Given the description of an element on the screen output the (x, y) to click on. 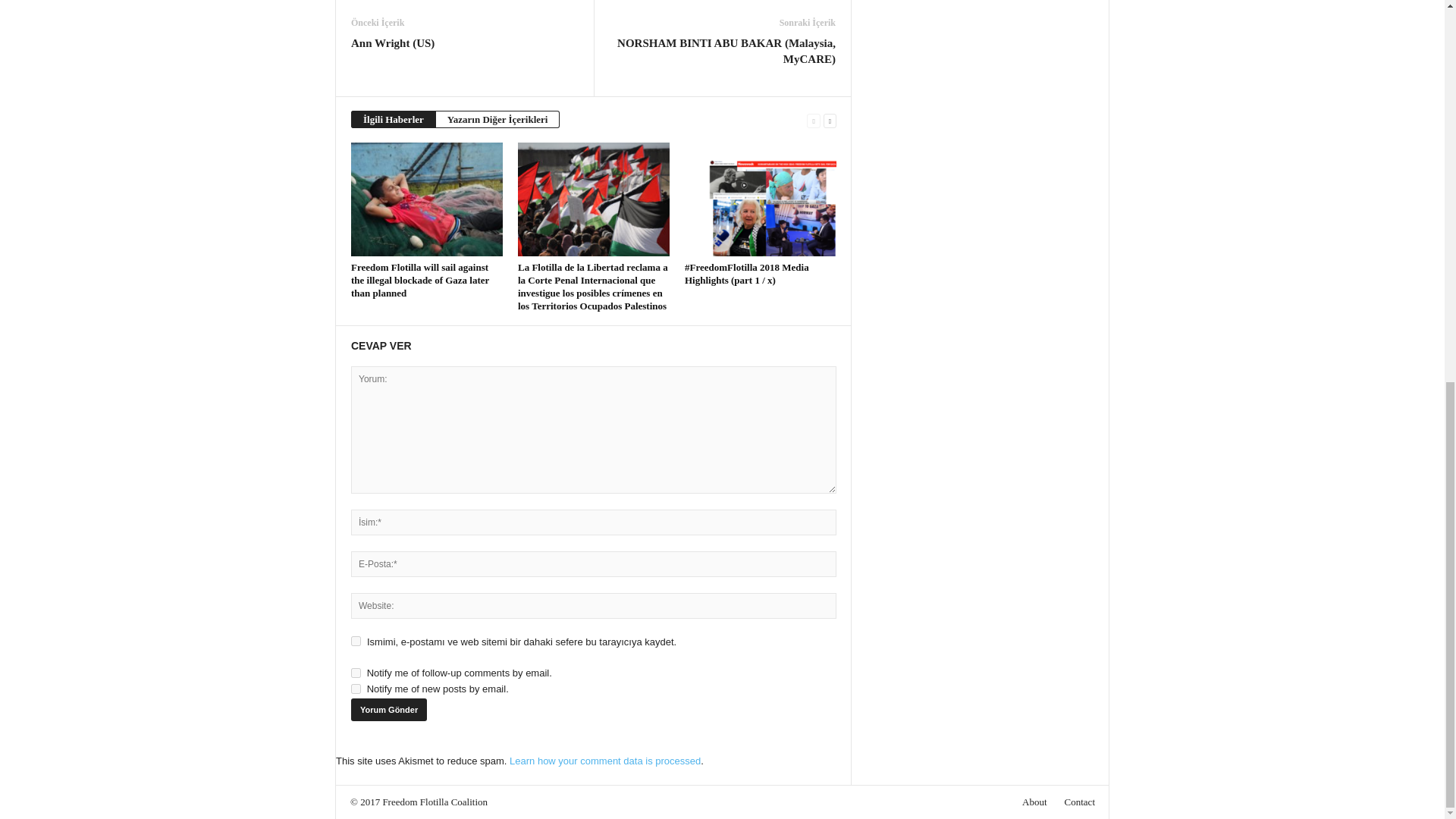
subscribe (355, 673)
yes (355, 641)
subscribe (355, 688)
